Given the description of an element on the screen output the (x, y) to click on. 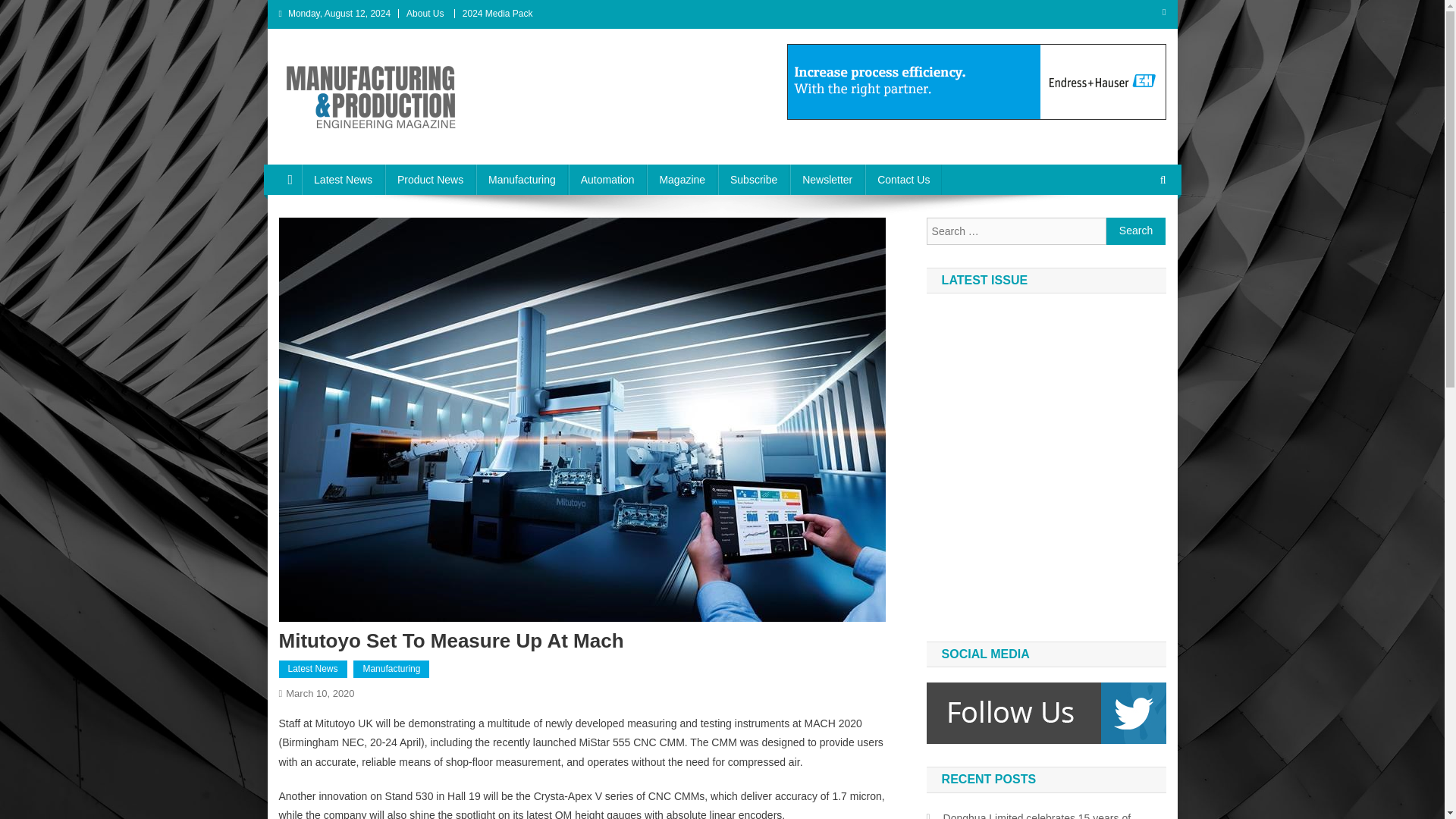
Donghua Limited celebrates 15 years of excellence in the UK (1046, 813)
Search (1133, 230)
Social Media (1046, 712)
Search (1136, 230)
Manufacturing (391, 669)
Magazine (681, 179)
Contact Us (903, 179)
Newsletter (827, 179)
Manufacturing (521, 179)
Latest News (313, 669)
